Given the description of an element on the screen output the (x, y) to click on. 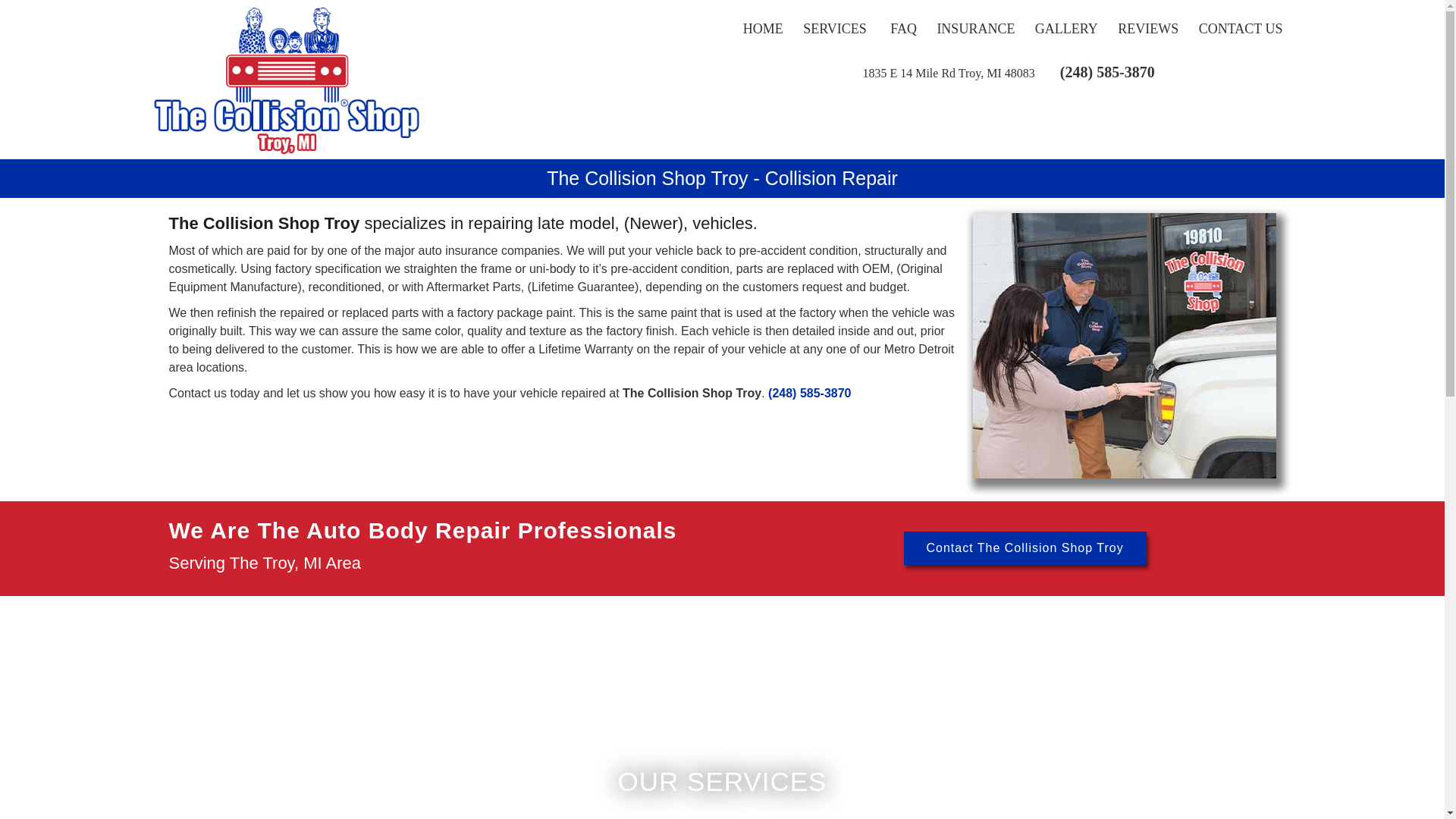
HOME (762, 29)
1835 E 14 Mile Rd Troy, MI 48083 (947, 72)
SERVICES (836, 29)
REVIEWS (1147, 29)
GALLERY (1066, 29)
Our Services (836, 29)
INSURANCE (975, 29)
Contact The Collision Shop Troy (1025, 548)
